Given the description of an element on the screen output the (x, y) to click on. 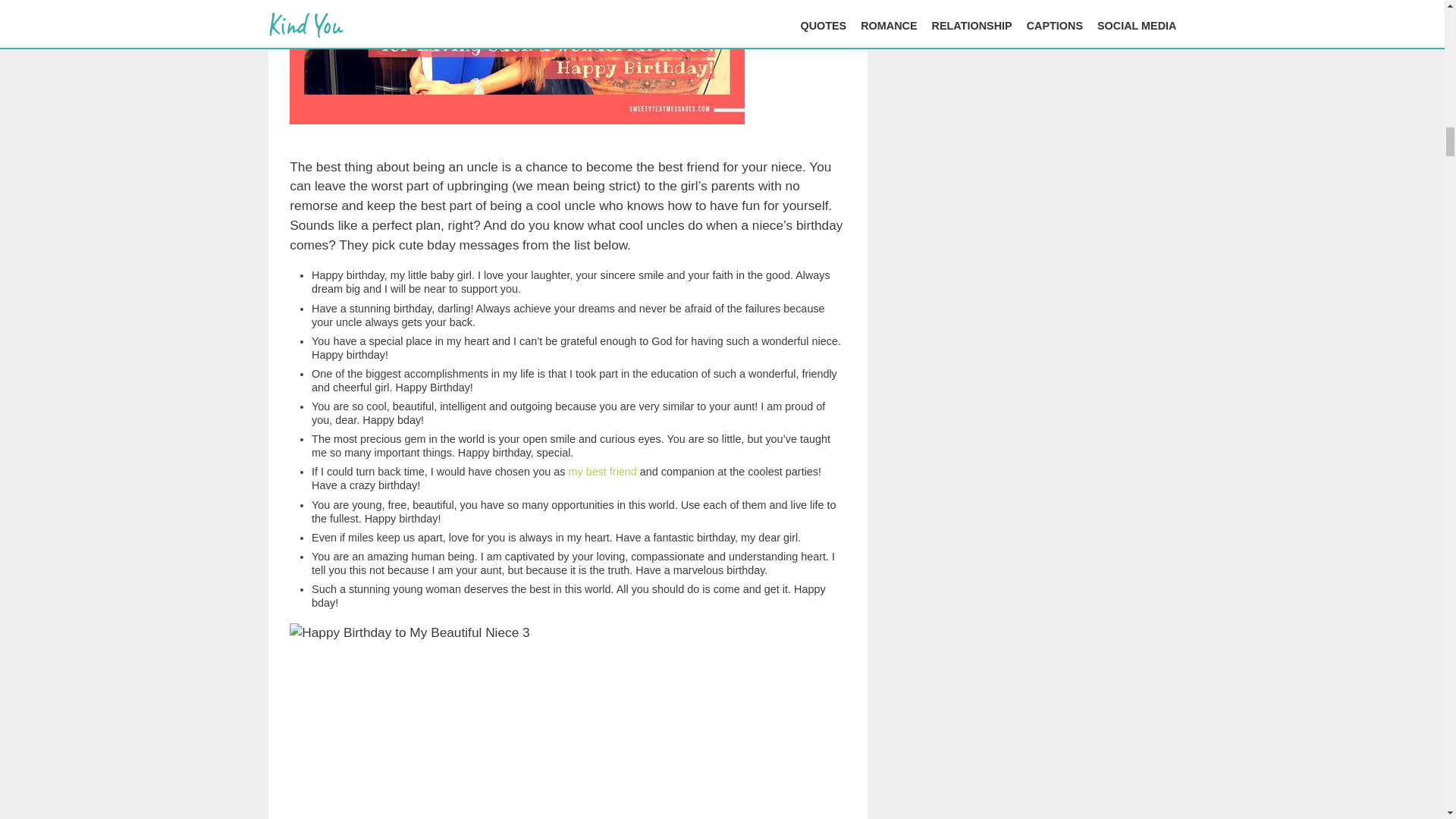
my best friend (601, 471)
